Given the description of an element on the screen output the (x, y) to click on. 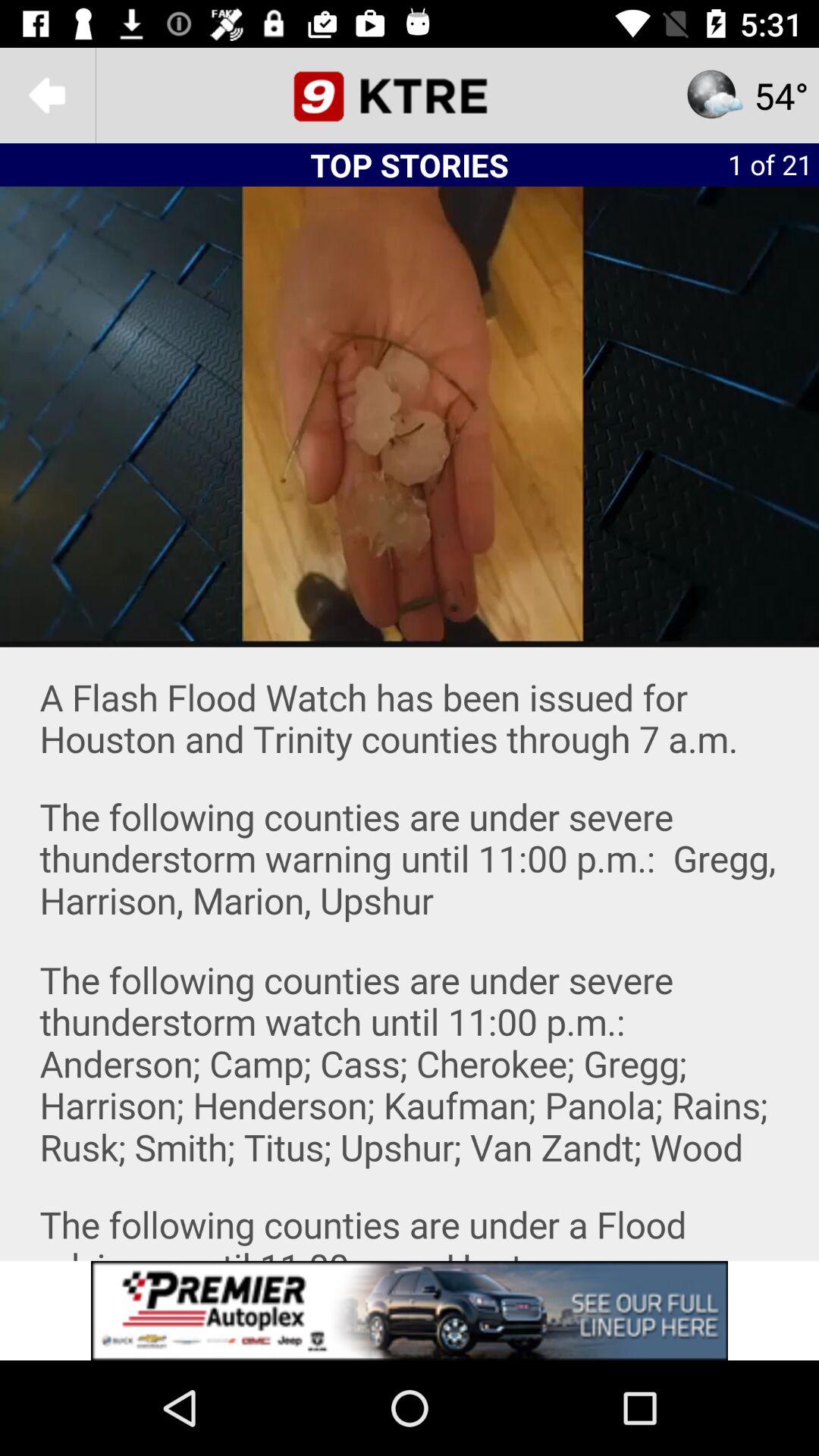
go to principal menu (409, 95)
